Given the description of an element on the screen output the (x, y) to click on. 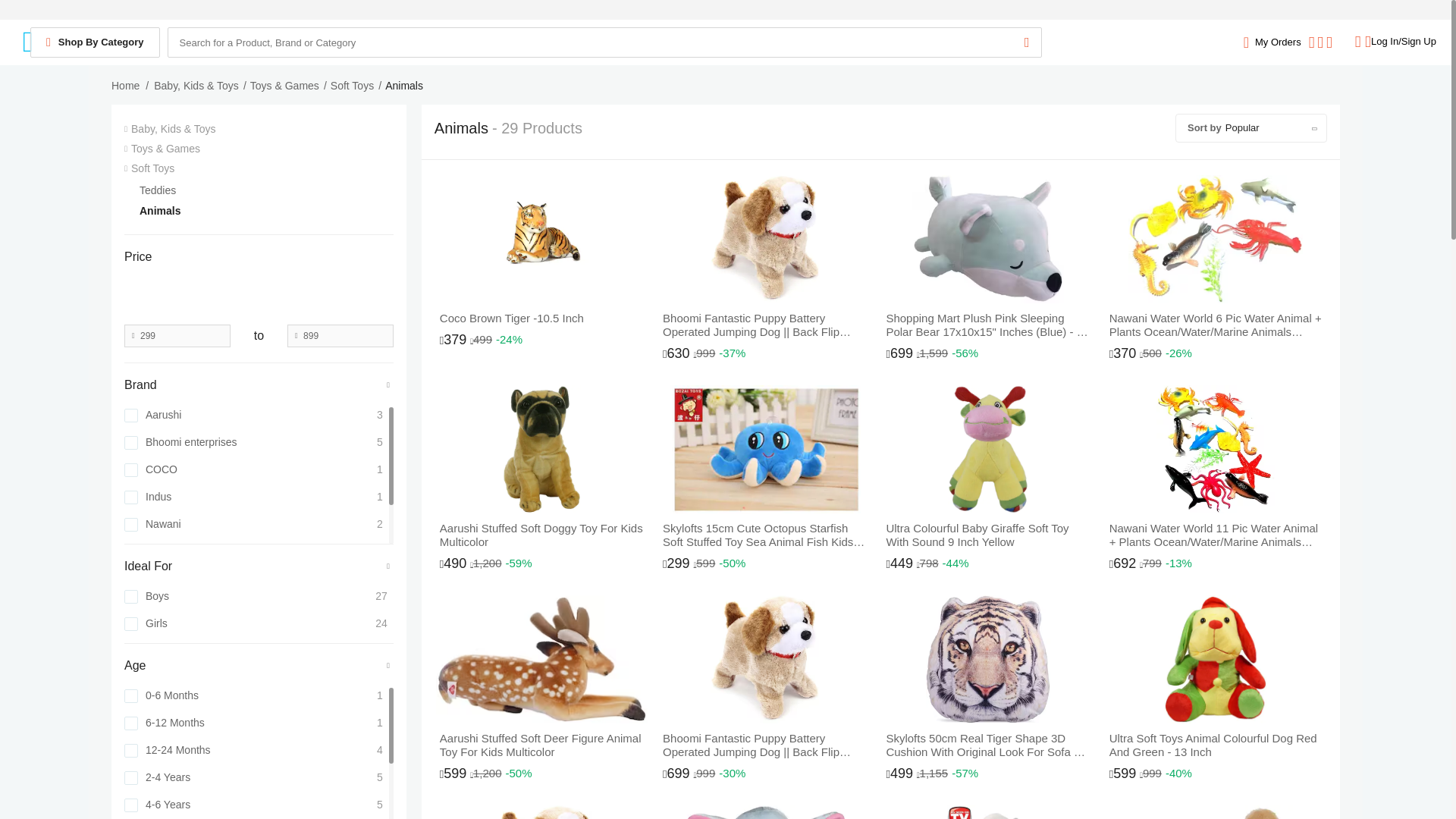
Coco Brown Tiger -10.5 inch (541, 265)
Ultra Soft Toys Animal Colourful Dog Red and Green - 13 inch (1214, 692)
Animals (404, 85)
Animals (266, 210)
299 (176, 335)
Aarushi Stuffed Soft Doggy Toy for Kids Multicolor (541, 482)
Soft Toys (352, 85)
Soft Toys (258, 168)
Aarushi Stuffed Soft Camel figure Animal Toy for Kids Beige (1214, 812)
Ultra Baby Elephant Soft Toy 11 inch - Light Grey (765, 812)
Teddies (266, 190)
899 (339, 335)
